Given the description of an element on the screen output the (x, y) to click on. 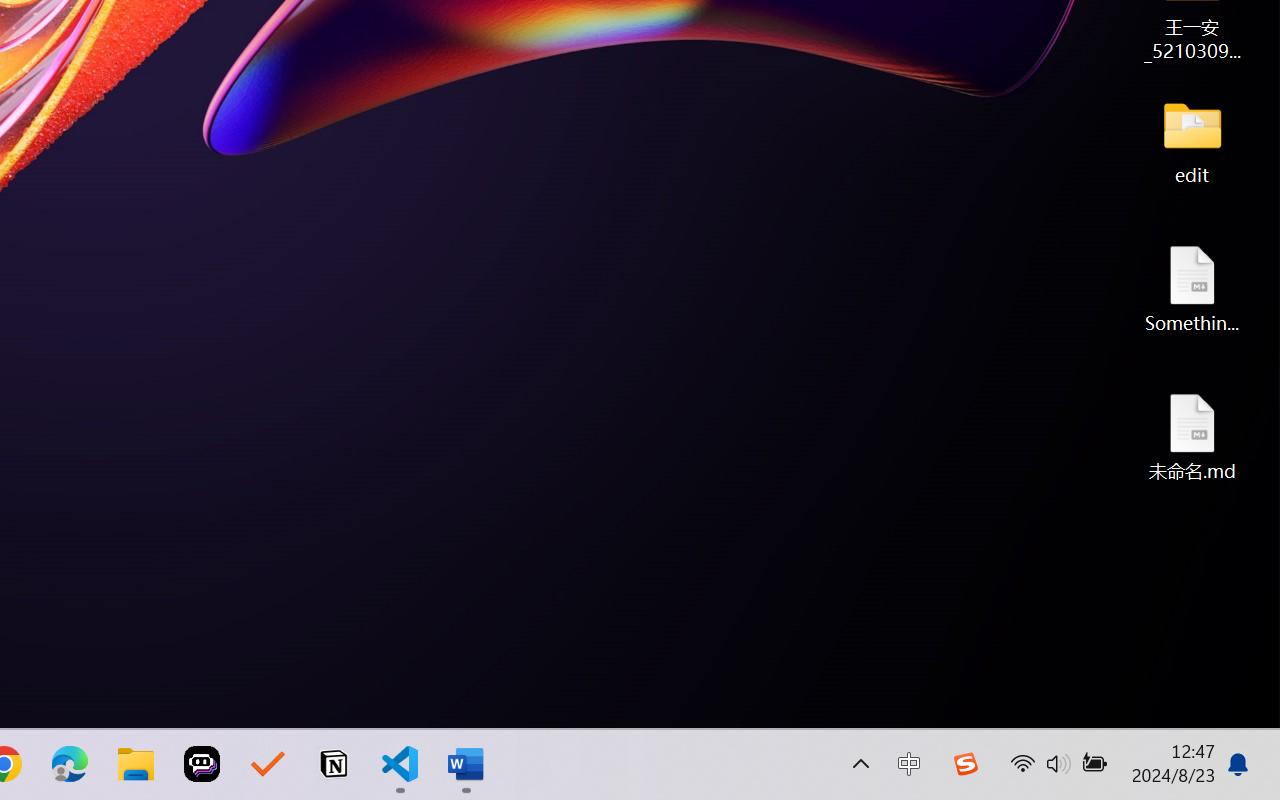
Something.md (1192, 288)
edit (1192, 140)
Microsoft Edge (69, 764)
